Given the description of an element on the screen output the (x, y) to click on. 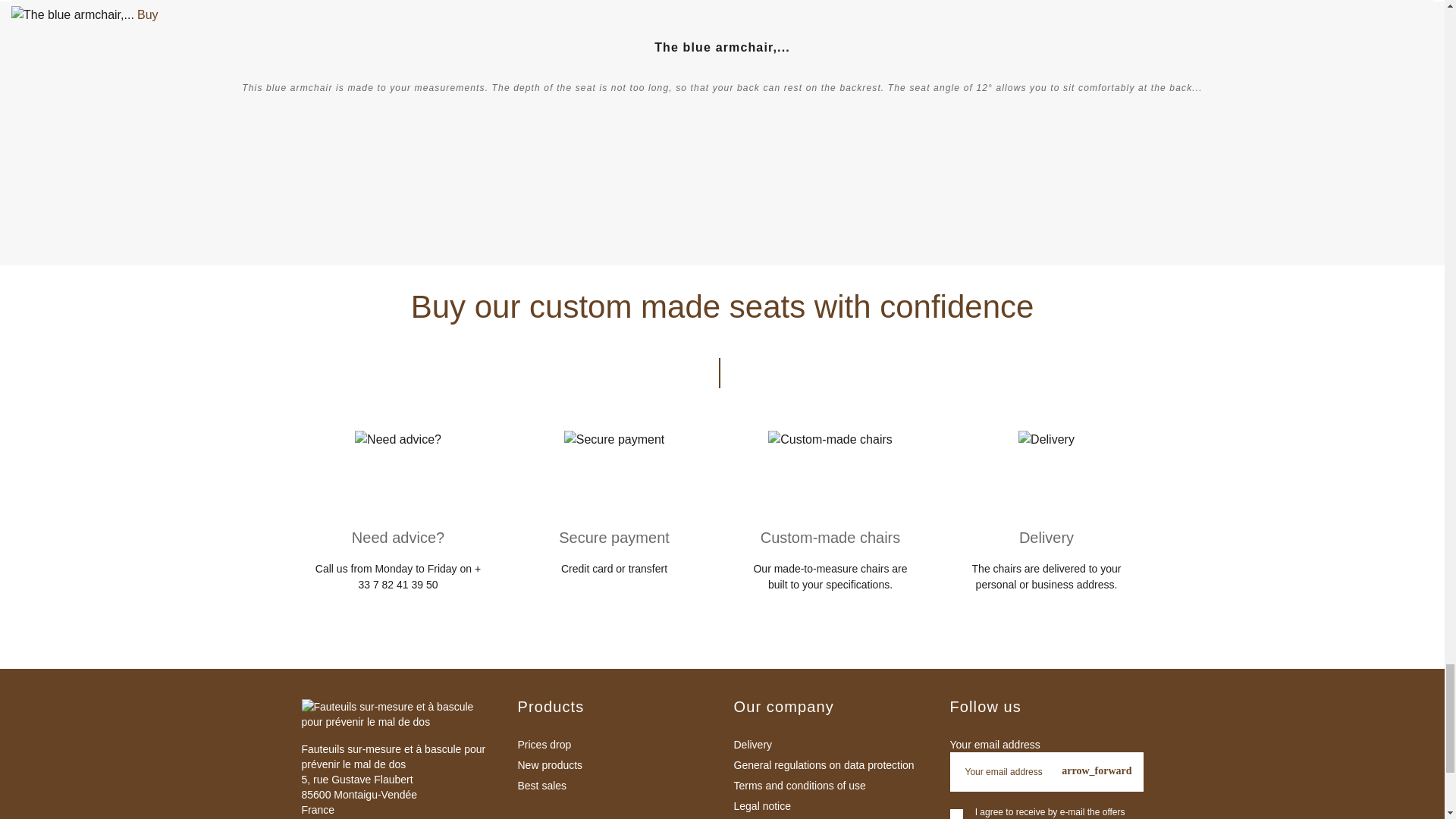
Our special products (613, 744)
Our best sales (613, 785)
Our new products (613, 765)
